Given the description of an element on the screen output the (x, y) to click on. 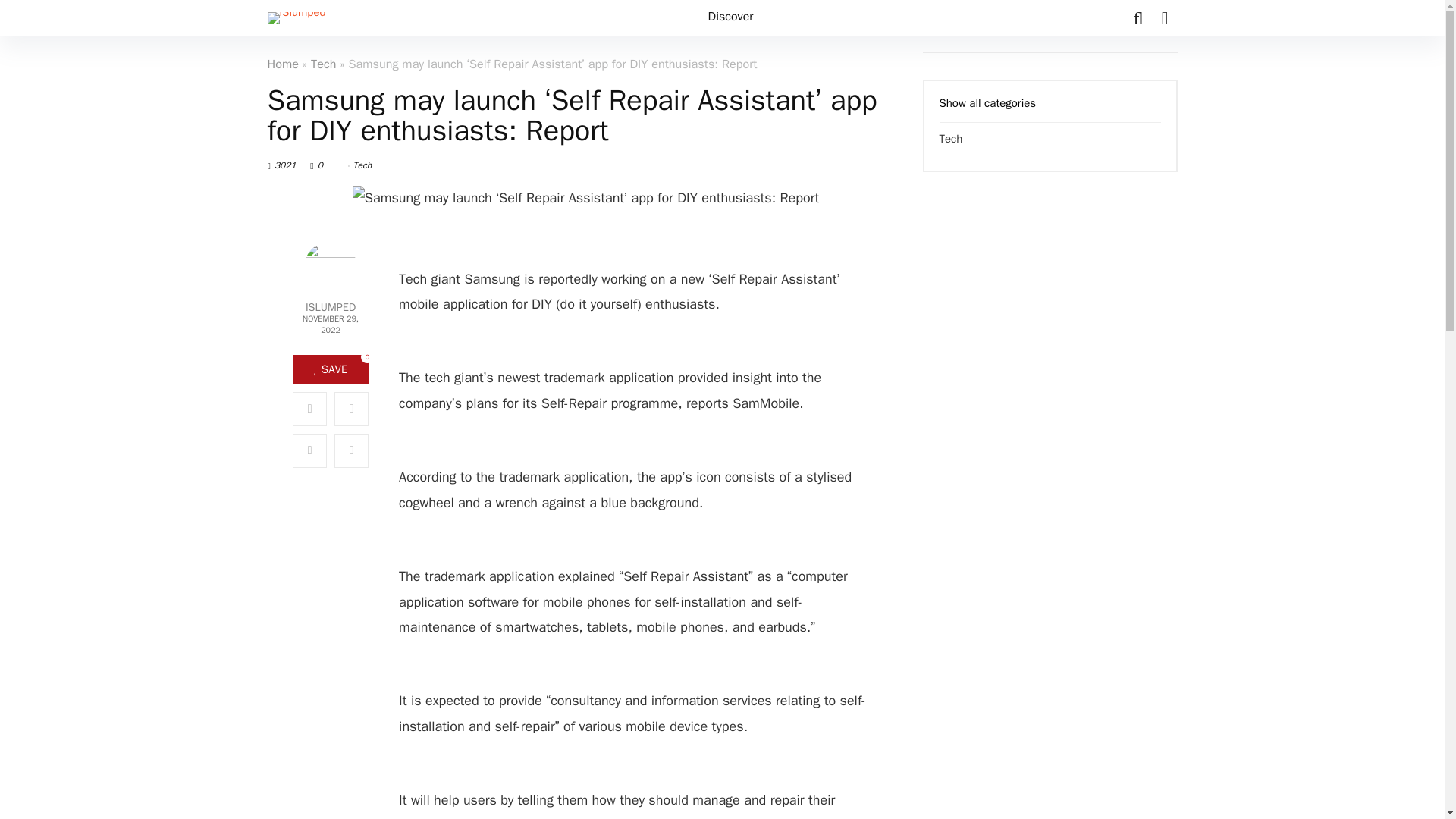
Tech (323, 64)
View all posts in Tech (362, 164)
Discover (730, 18)
0 (325, 164)
ISLUMPED (330, 307)
Tech (362, 164)
Home (282, 64)
